Given the description of an element on the screen output the (x, y) to click on. 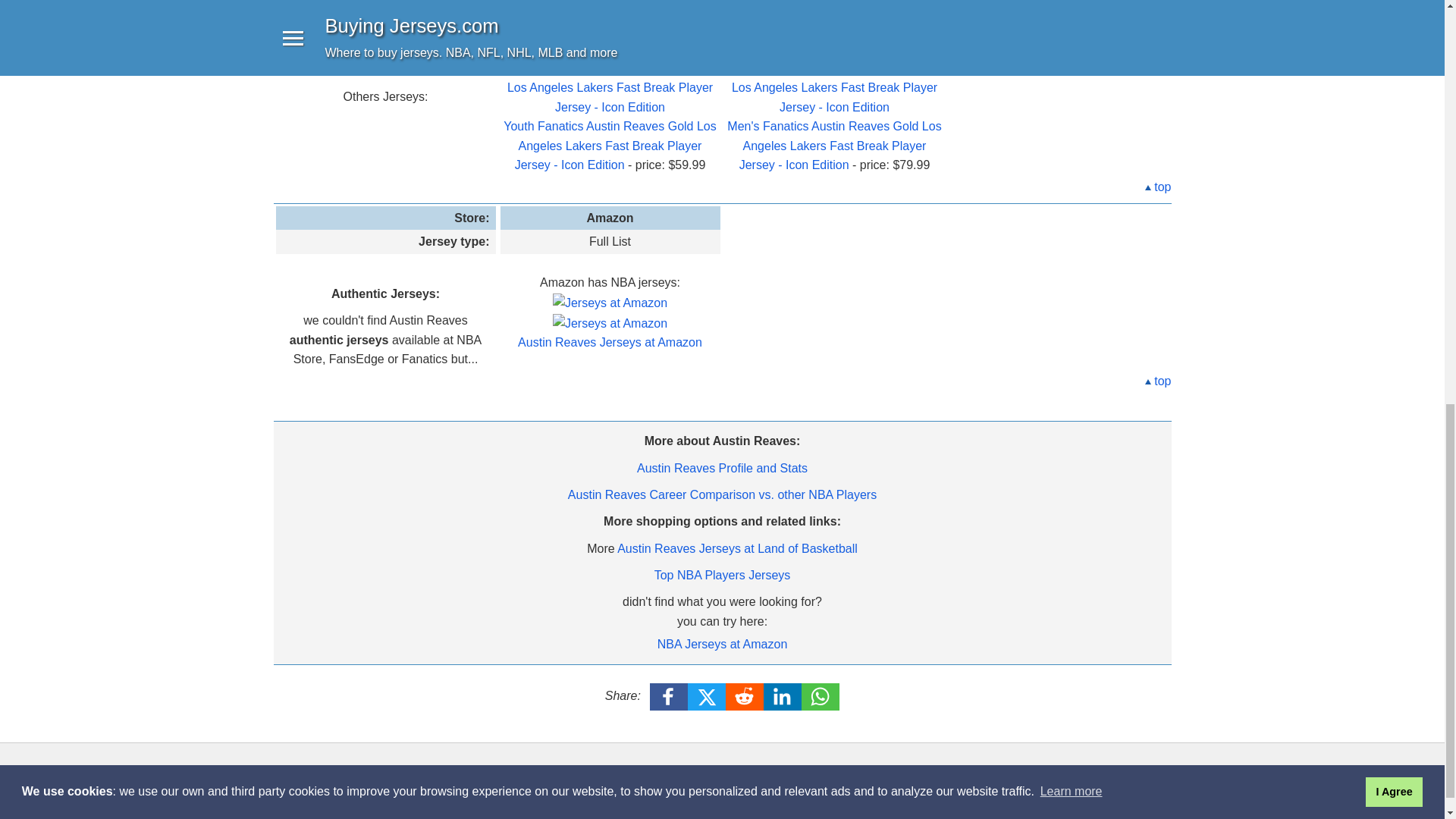
LinkedIn (782, 696)
Reddit (744, 696)
WhatsApp (820, 696)
Facebook (668, 696)
